Given the description of an element on the screen output the (x, y) to click on. 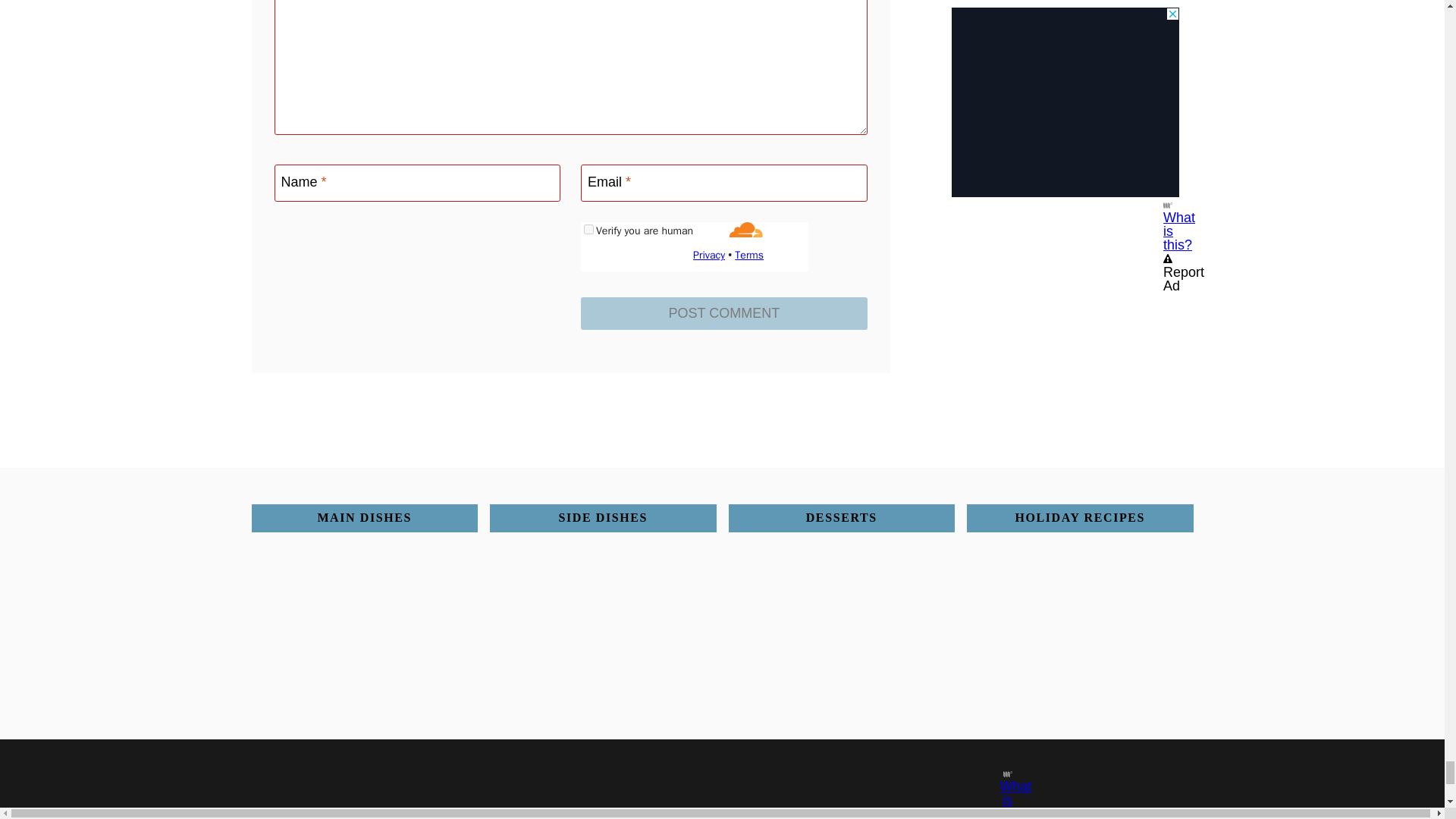
Post Comment (723, 313)
